Given the description of an element on the screen output the (x, y) to click on. 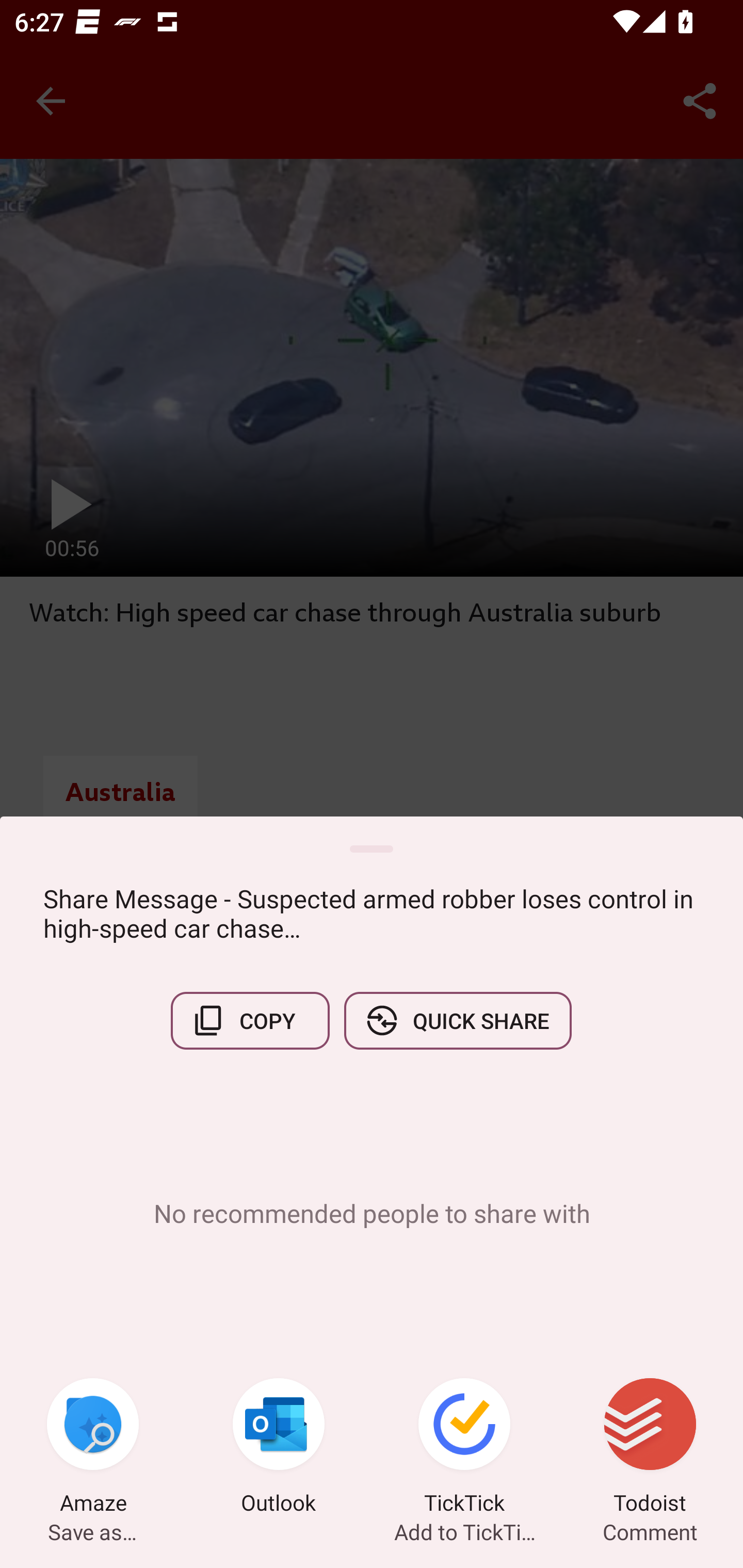
COPY (249, 1020)
QUICK SHARE (457, 1020)
Amaze Save as… (92, 1448)
Outlook (278, 1448)
TickTick Add to TickTick (464, 1448)
Todoist Comment (650, 1448)
